Given the description of an element on the screen output the (x, y) to click on. 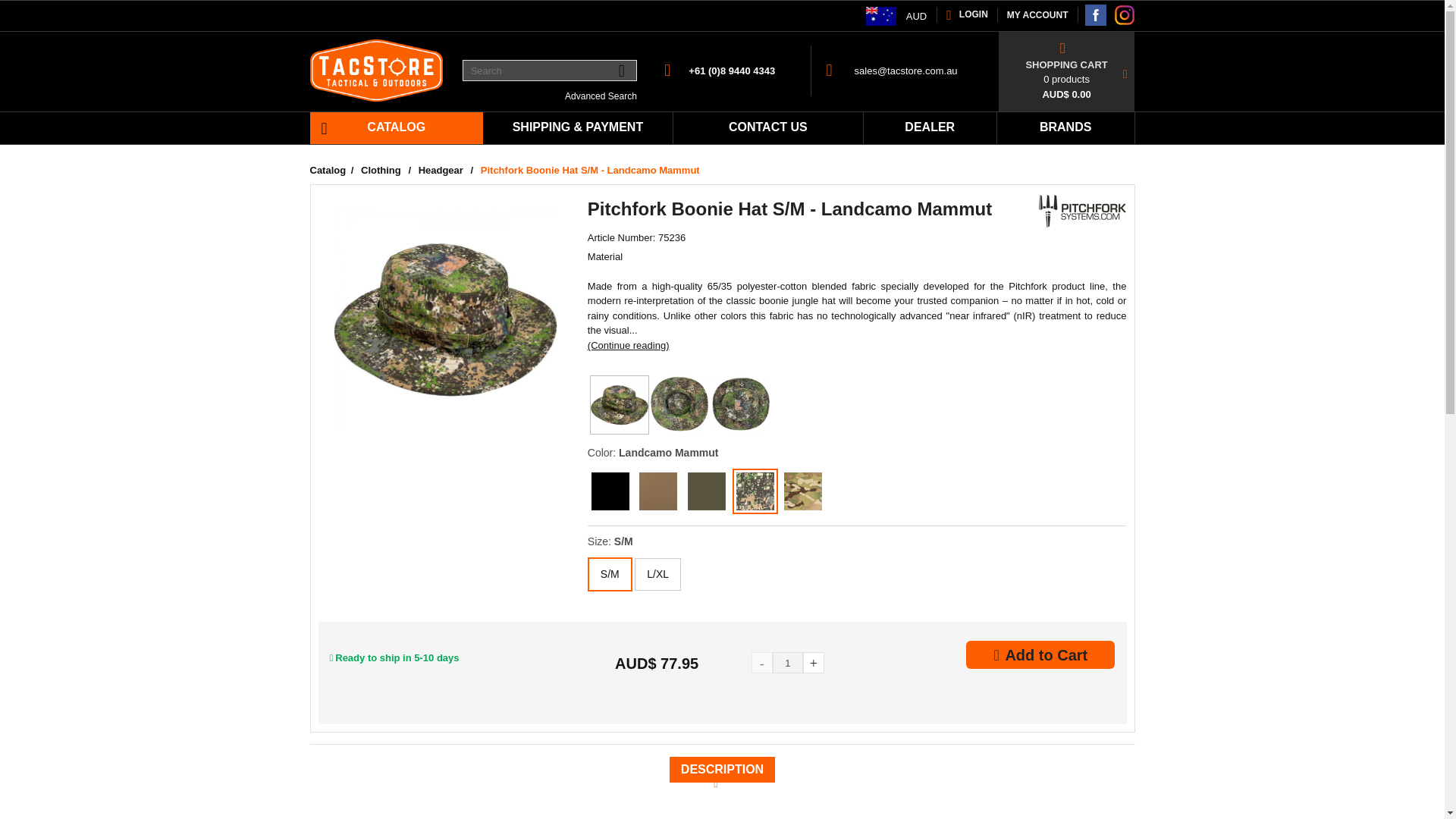
Advanced Search (600, 95)
1 (788, 662)
LOGIN (966, 14)
MY ACCOUNT (1037, 15)
